Given the description of an element on the screen output the (x, y) to click on. 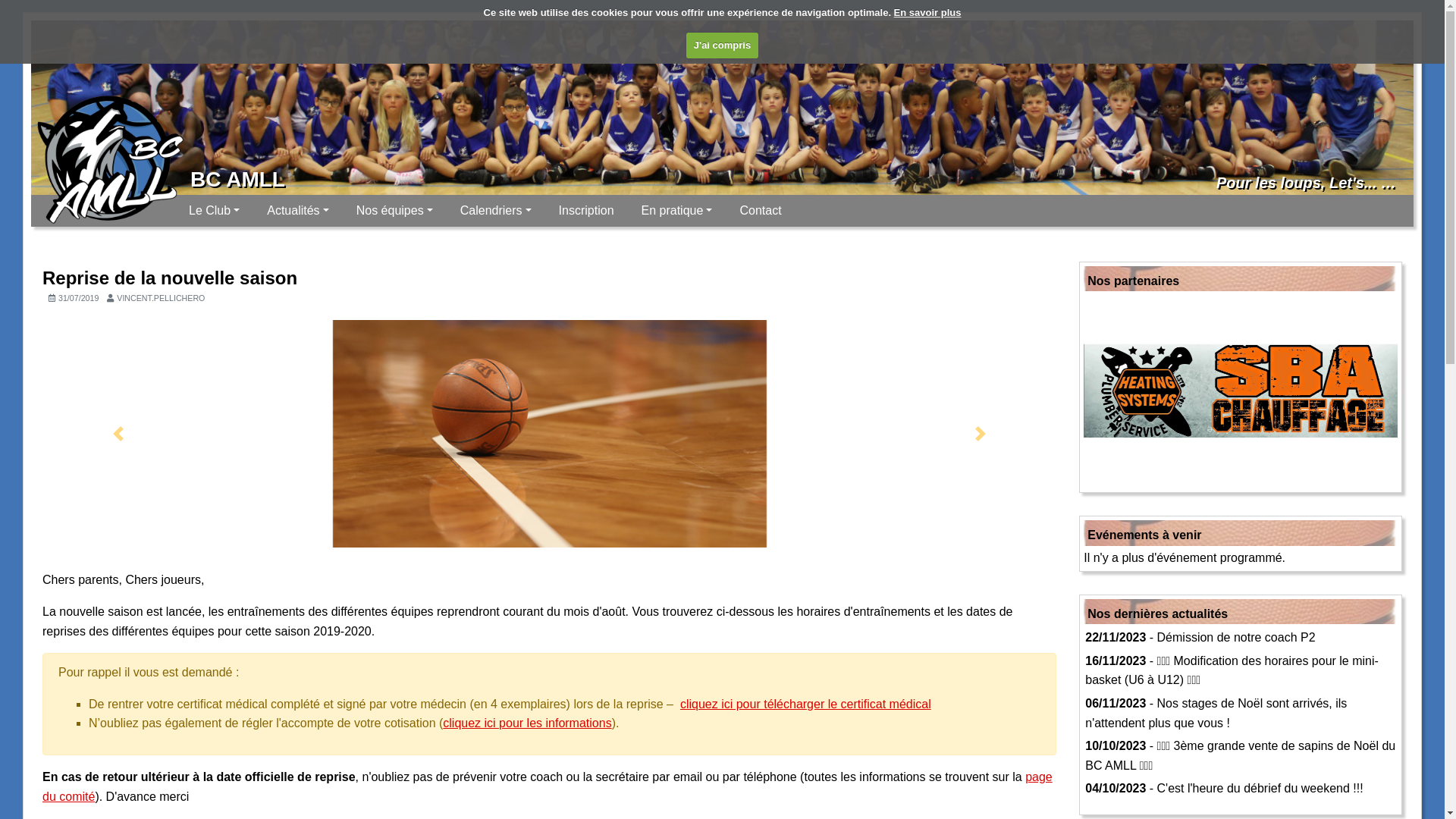
Suivant Element type: text (980, 433)
En savoir plus Element type: text (927, 11)
cliquez ici pour les informations Element type: text (526, 722)
J'ai compris Element type: text (722, 45)
Le Club Element type: text (213, 210)
Inscription Element type: text (586, 210)
En pratique Element type: text (676, 210)
BC AMLL Element type: text (237, 179)
Calendriers Element type: text (495, 210)
season-opening Element type: hover (549, 432)
SBA Chauffage Element type: hover (1240, 391)
Contact Element type: text (760, 210)
